Given the description of an element on the screen output the (x, y) to click on. 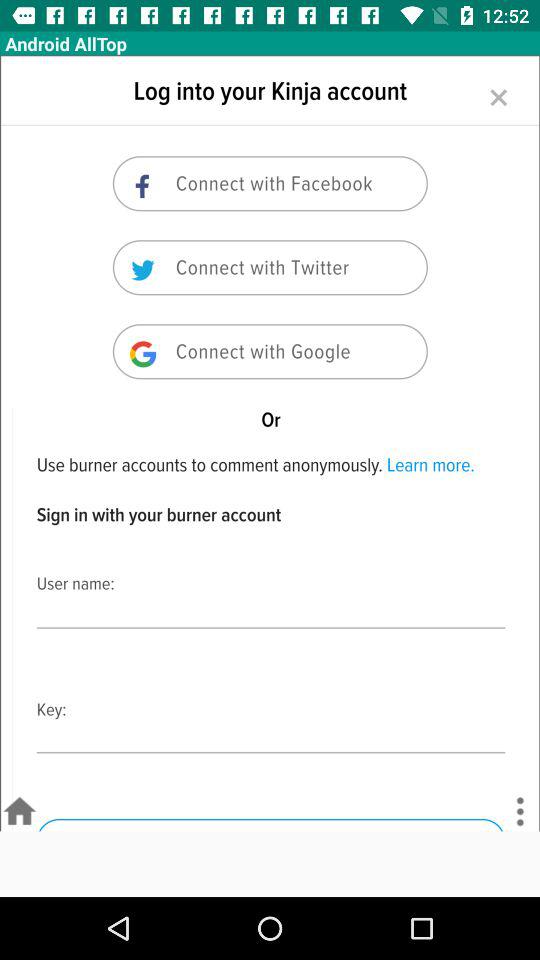
home option (19, 811)
